Given the description of an element on the screen output the (x, y) to click on. 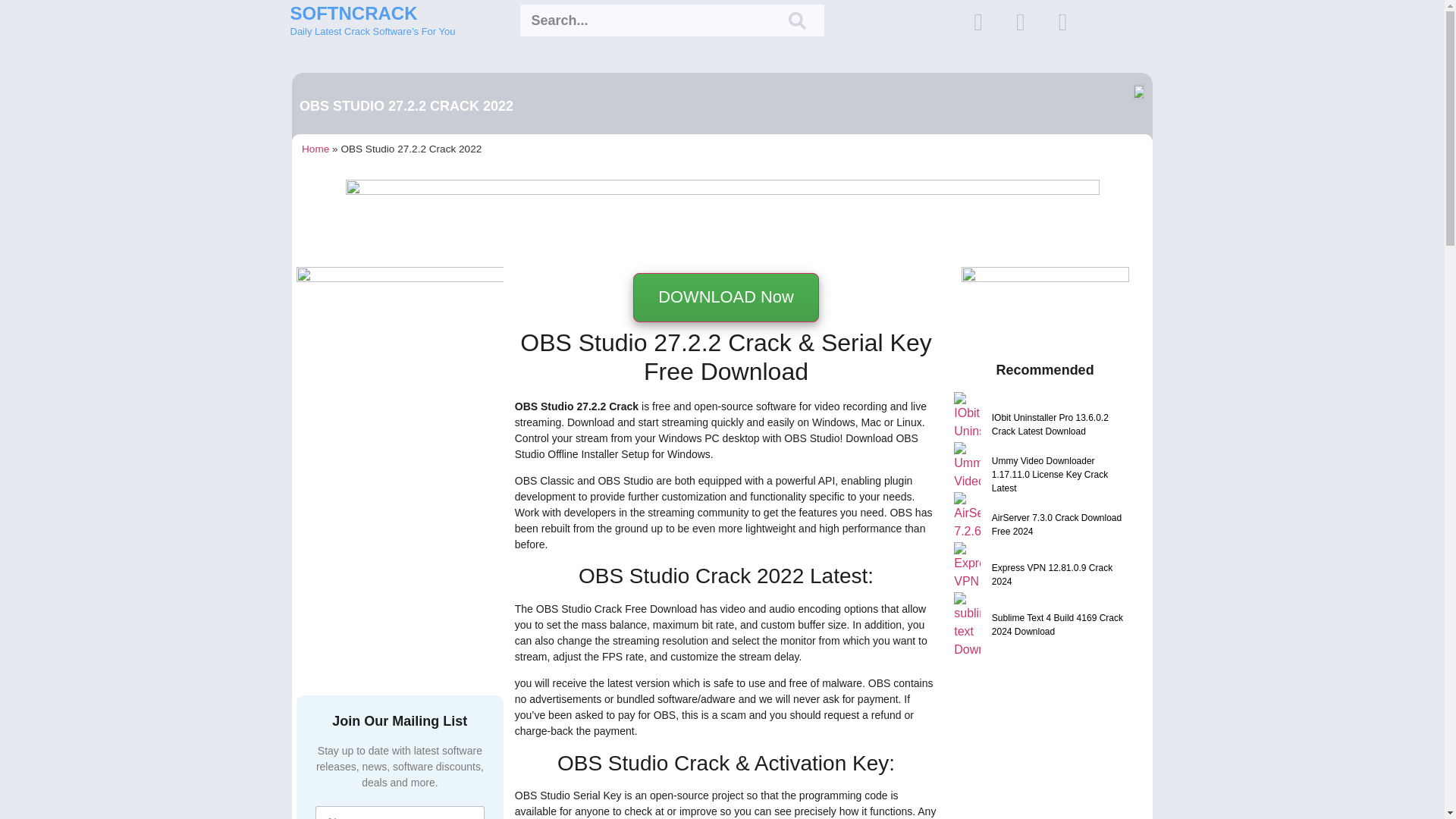
Express VPN 12.81.0.9 Crack 2024 (1060, 574)
SOFTNCRACK (352, 13)
AirServer 7.3.0 Crack Download Free 2024 (1060, 524)
IObit Uninstaller Pro 13.6.0.2 Crack Latest Download (1060, 424)
Ummy Video Downloader 1.17.11.0 License Key Crack Latest (1060, 474)
Sublime Text 4 Build 4169 Crack 2024 Download (1060, 624)
